Given the description of an element on the screen output the (x, y) to click on. 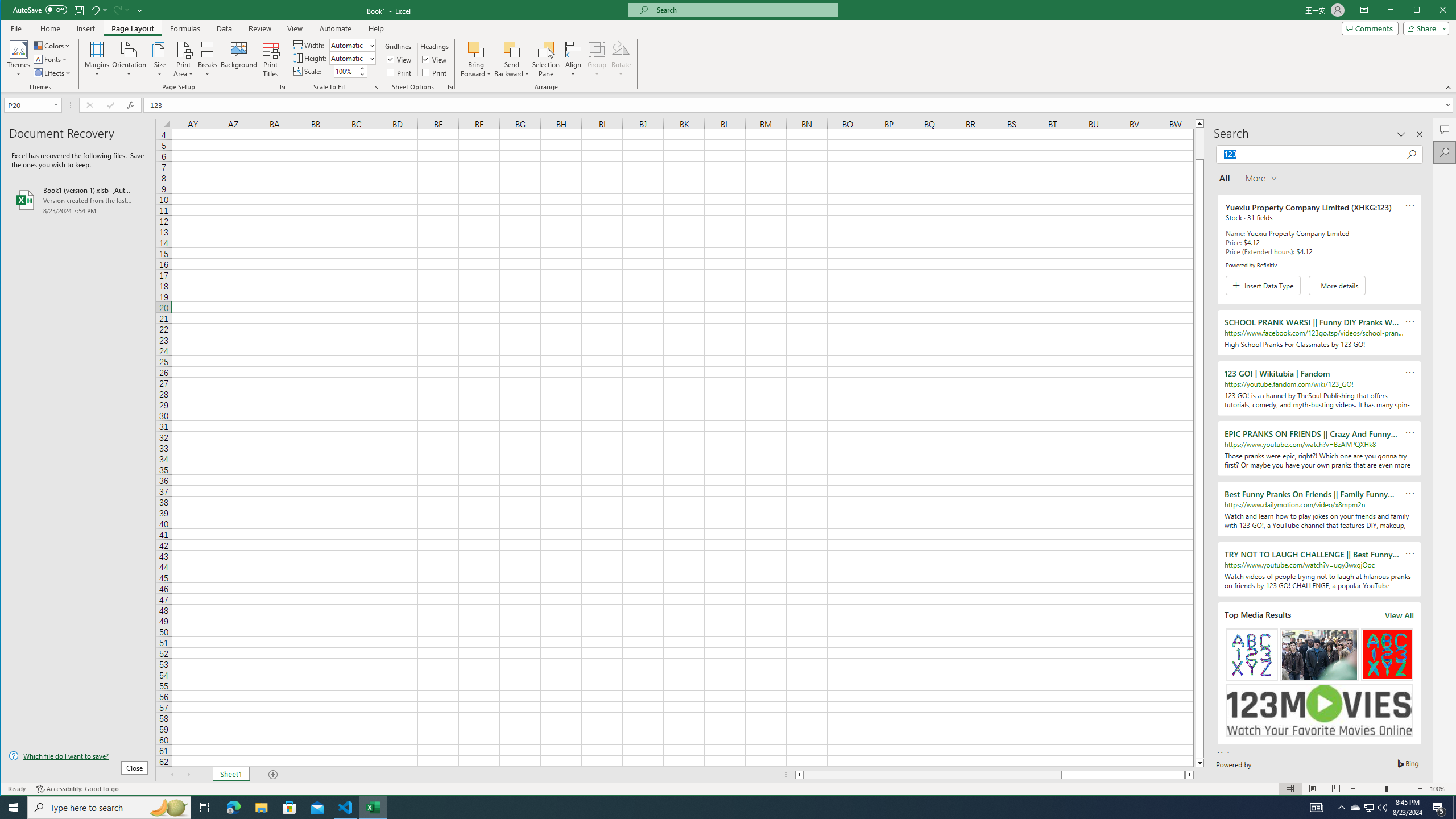
Q2790: 100% (1382, 807)
Selection Pane... (546, 59)
Themes (18, 59)
Width (349, 45)
View (294, 28)
Orientation (129, 59)
View (434, 59)
Running applications (717, 807)
Search highlights icon opens search home window (1368, 807)
Size (167, 807)
Margins (159, 59)
Task View (96, 59)
Collapse the Ribbon (204, 807)
More Options (1448, 87)
